Given the description of an element on the screen output the (x, y) to click on. 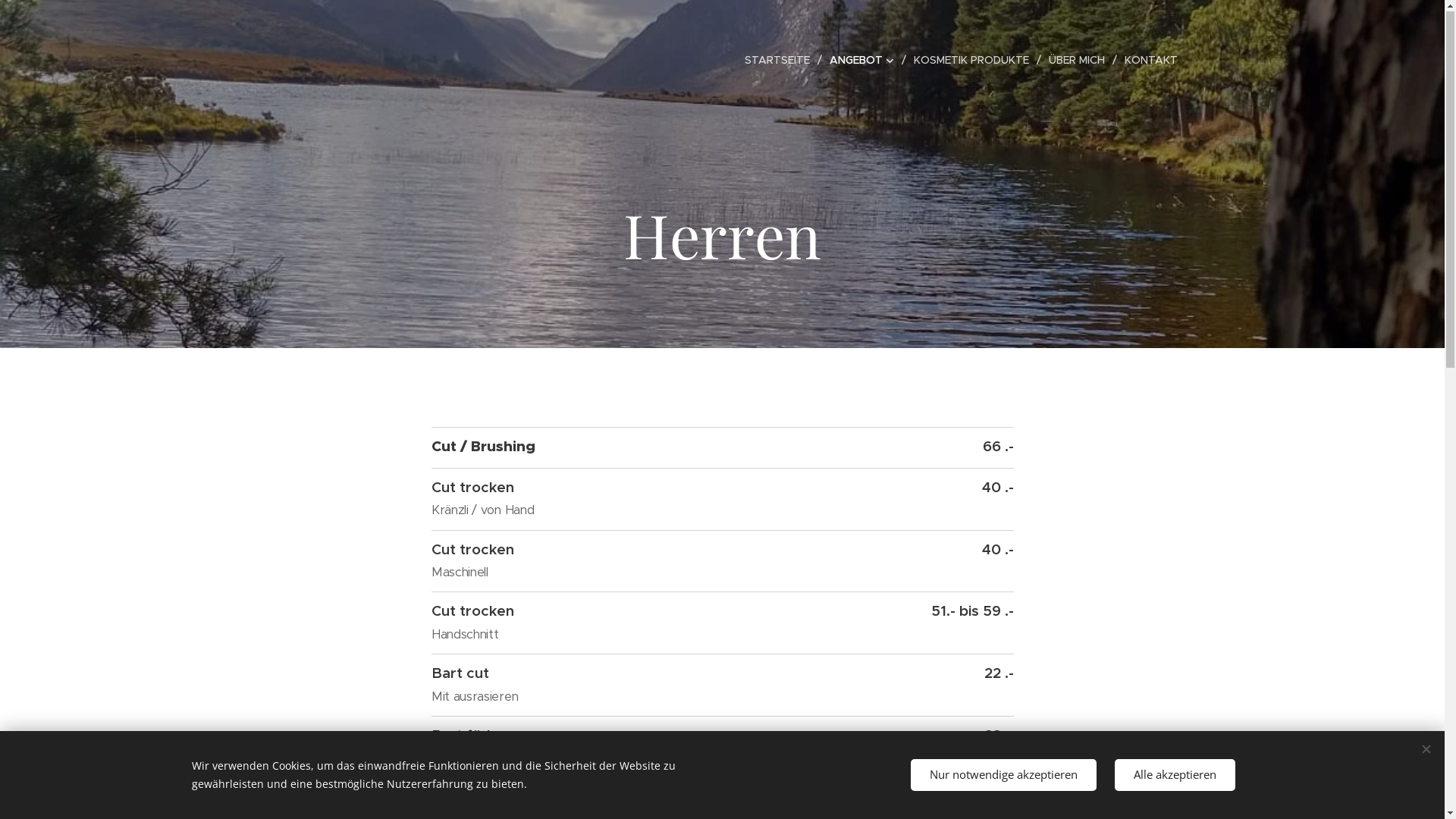
ANGEBOT Element type: text (864, 60)
STARTSEITE Element type: text (780, 60)
KONTAKT Element type: text (1146, 60)
KOSMETIK PRODUKTE Element type: text (972, 60)
Alle akzeptieren Element type: text (1174, 774)
Nur notwendige akzeptieren Element type: text (1002, 774)
